Given the description of an element on the screen output the (x, y) to click on. 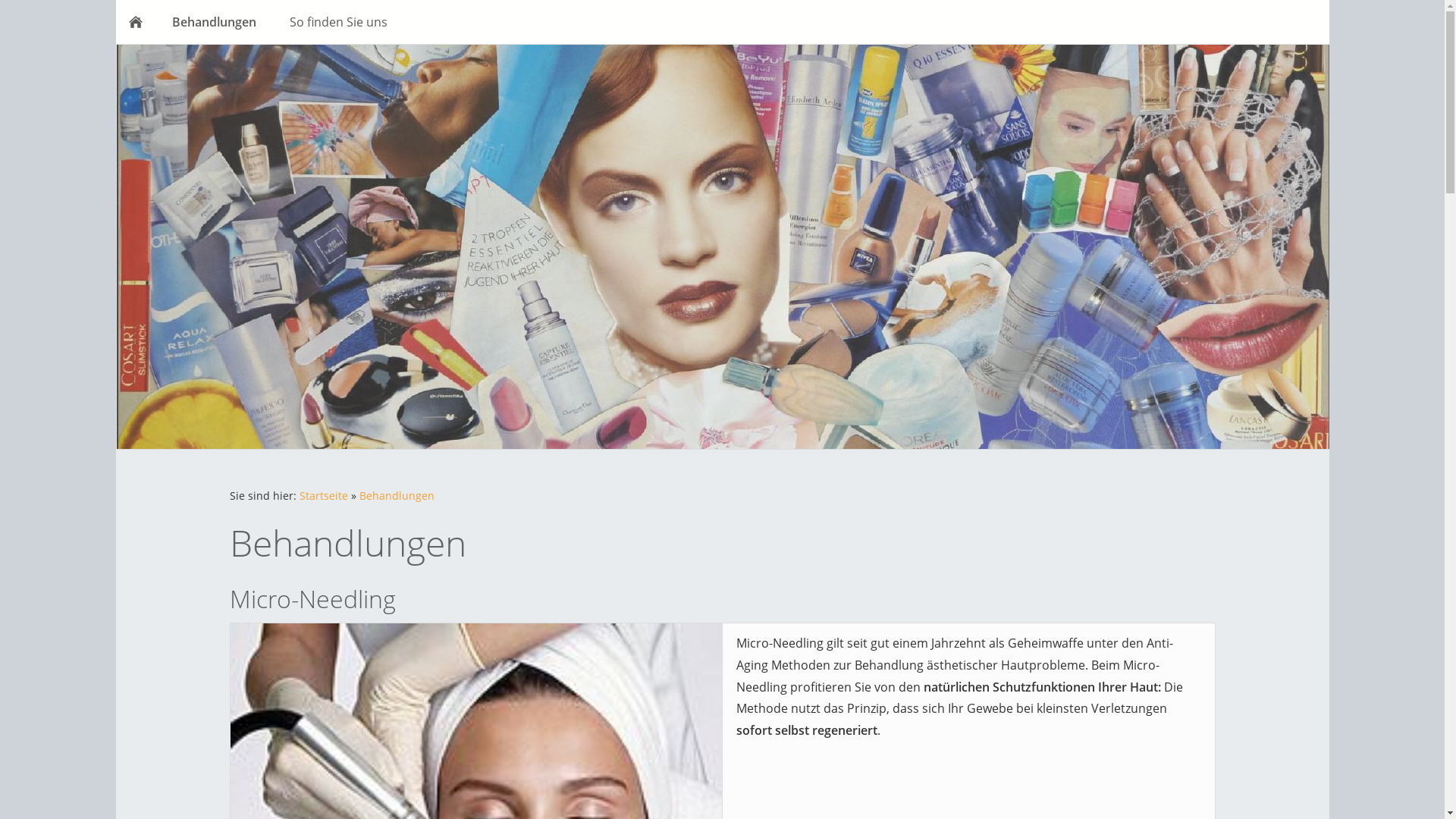
Behandlungen Element type: text (396, 495)
Behandlungen Element type: text (213, 21)
So finden Sie uns Element type: text (338, 21)
Startseite Element type: text (322, 495)
